Given the description of an element on the screen output the (x, y) to click on. 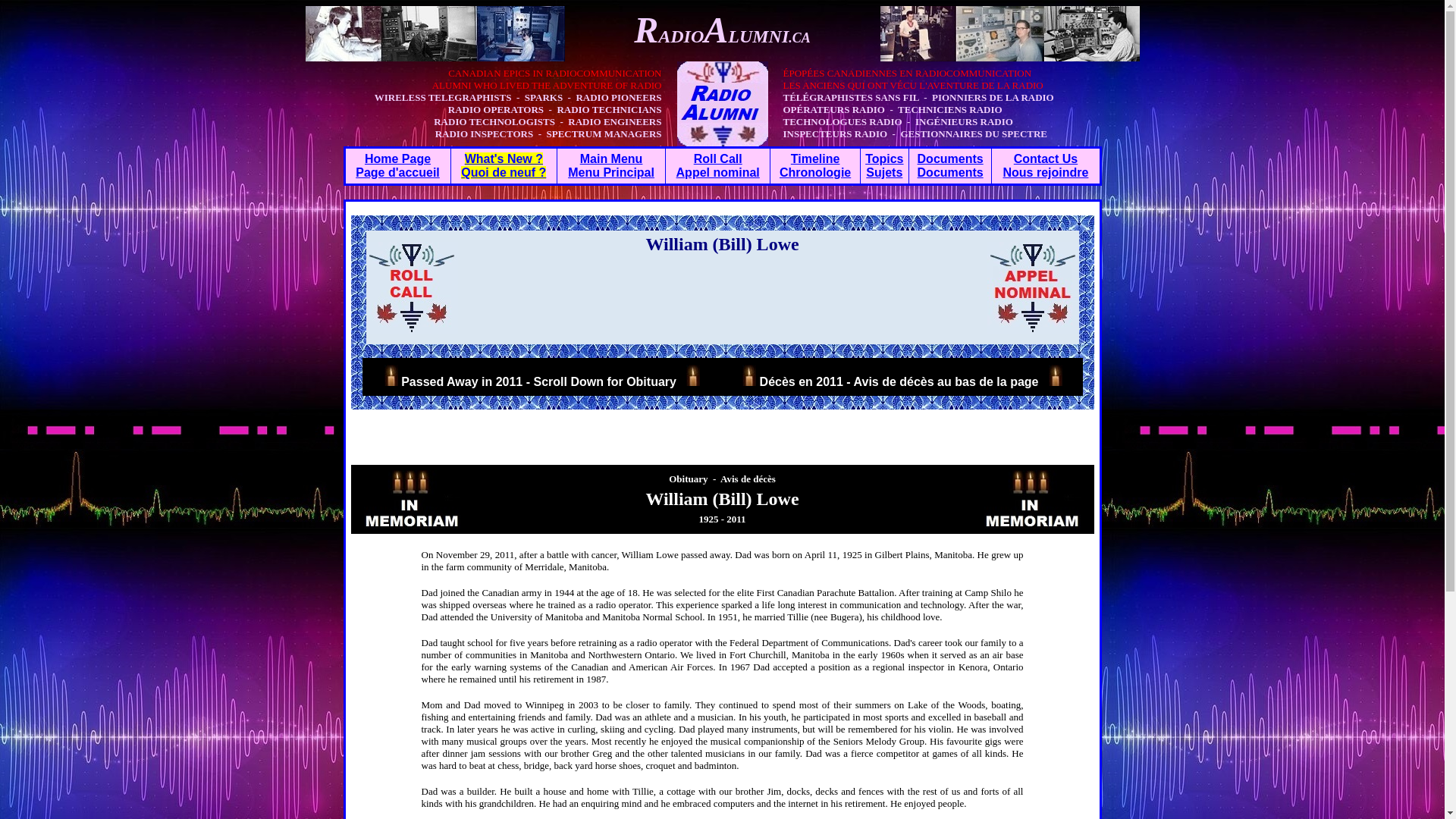
Page d'accueil (397, 172)
Appel nominal (718, 172)
Menu Principal (610, 172)
Quoi de neuf ? (503, 172)
Contact Us (1045, 158)
Home Page (397, 158)
Documents (950, 172)
Topics (883, 158)
What's New ? (503, 158)
Main Menu (611, 158)
Roll Call (718, 158)
Chronologie (814, 172)
Sujets (884, 172)
Nous rejoindre (1046, 172)
Timeline (815, 158)
